Given the description of an element on the screen output the (x, y) to click on. 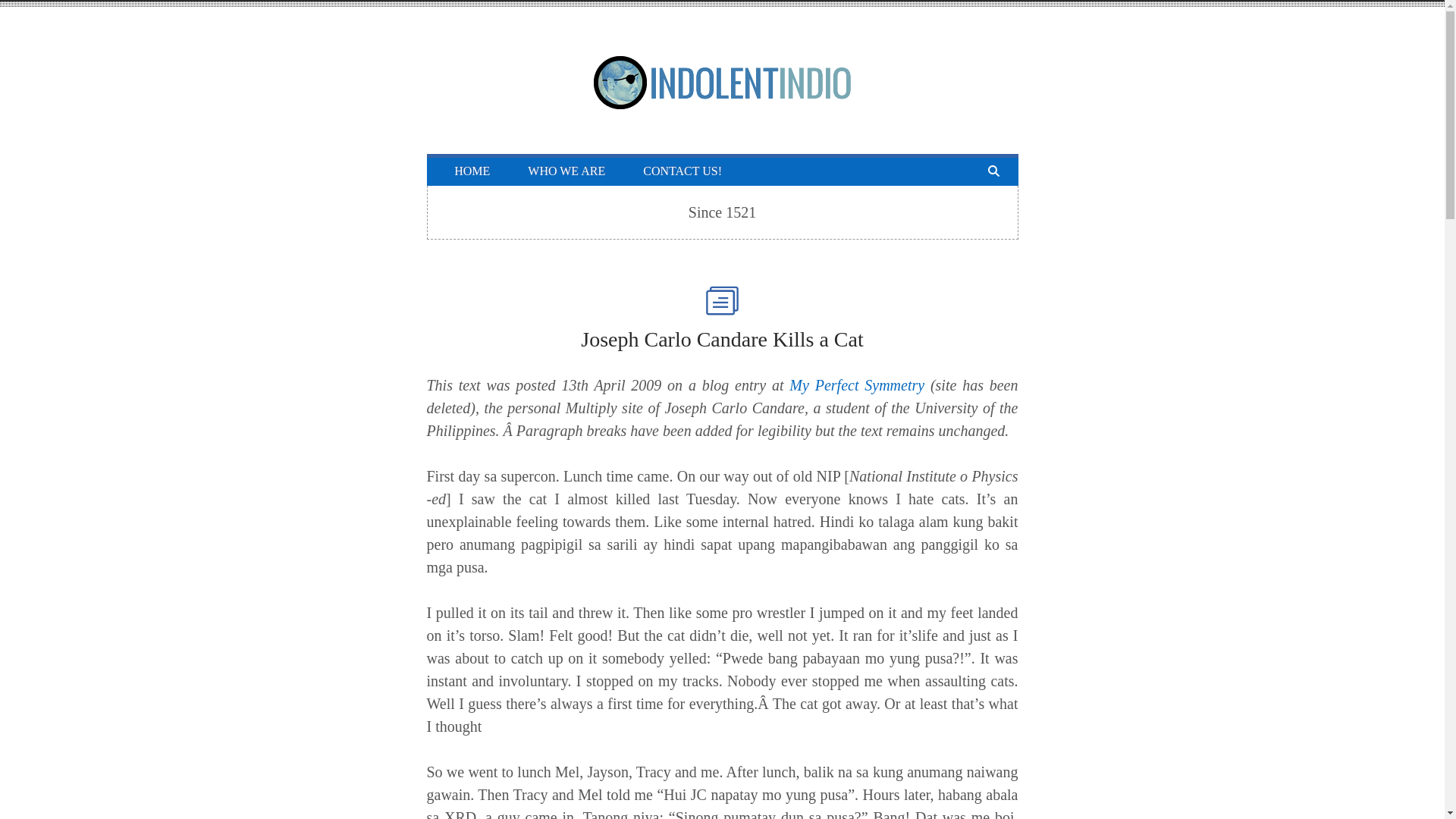
Joseph Carlo Candare Kills a Cat (721, 339)
Indolent Indio (722, 104)
SKIP TO CONTENT (452, 161)
WHO WE ARE (566, 171)
HOME (471, 171)
CONTACT US! (682, 171)
Search (22, 9)
My Perfect Symmetry (856, 384)
